Given the description of an element on the screen output the (x, y) to click on. 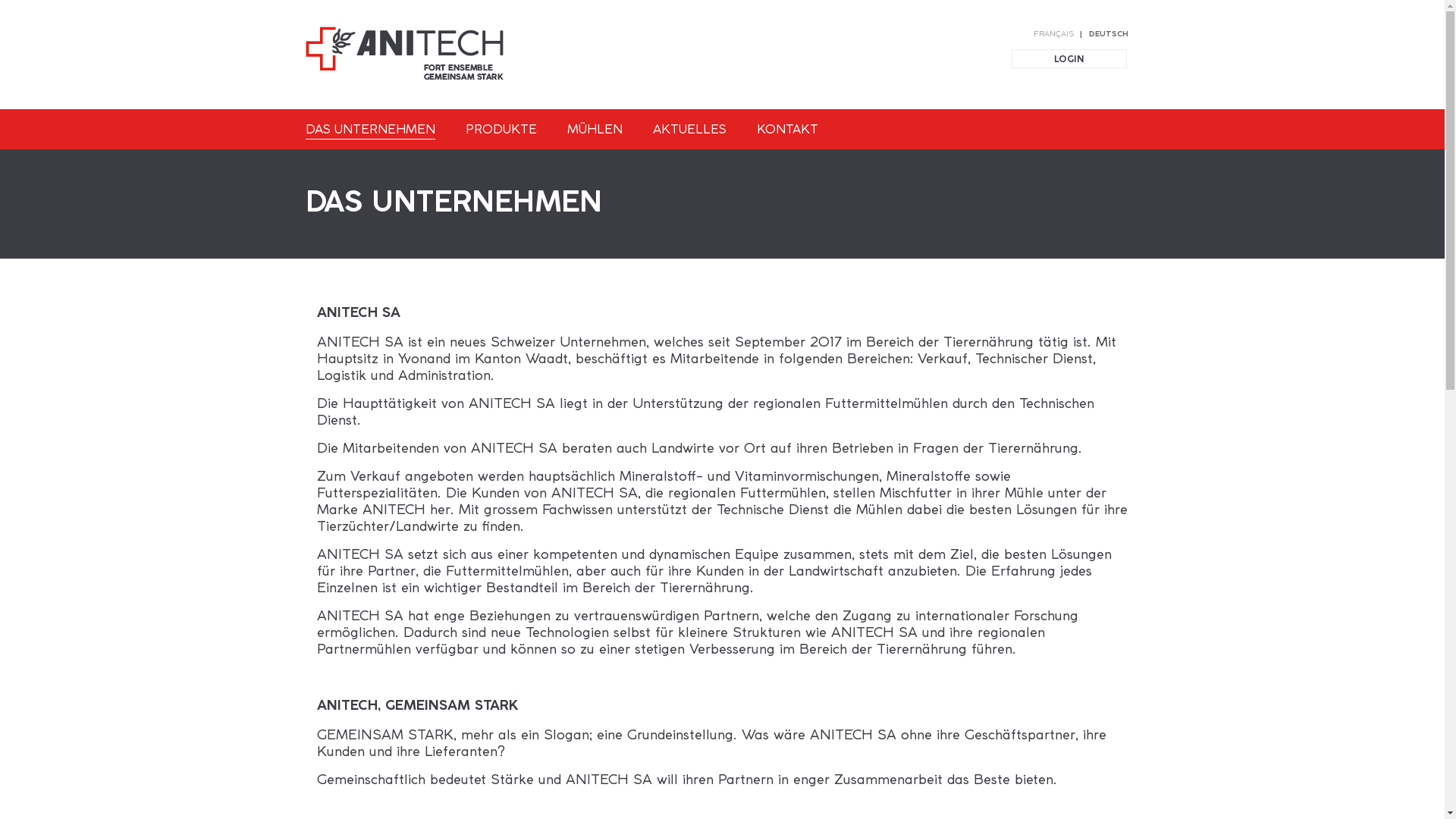
DAS UNTERNEHMEN Element type: text (369, 130)
PRODUKTE Element type: text (500, 129)
DEUTSCH Element type: text (1106, 34)
AKTUELLES Element type: text (688, 129)
KONTAKT Element type: text (787, 129)
LOGIN Element type: text (1068, 59)
